Given the description of an element on the screen output the (x, y) to click on. 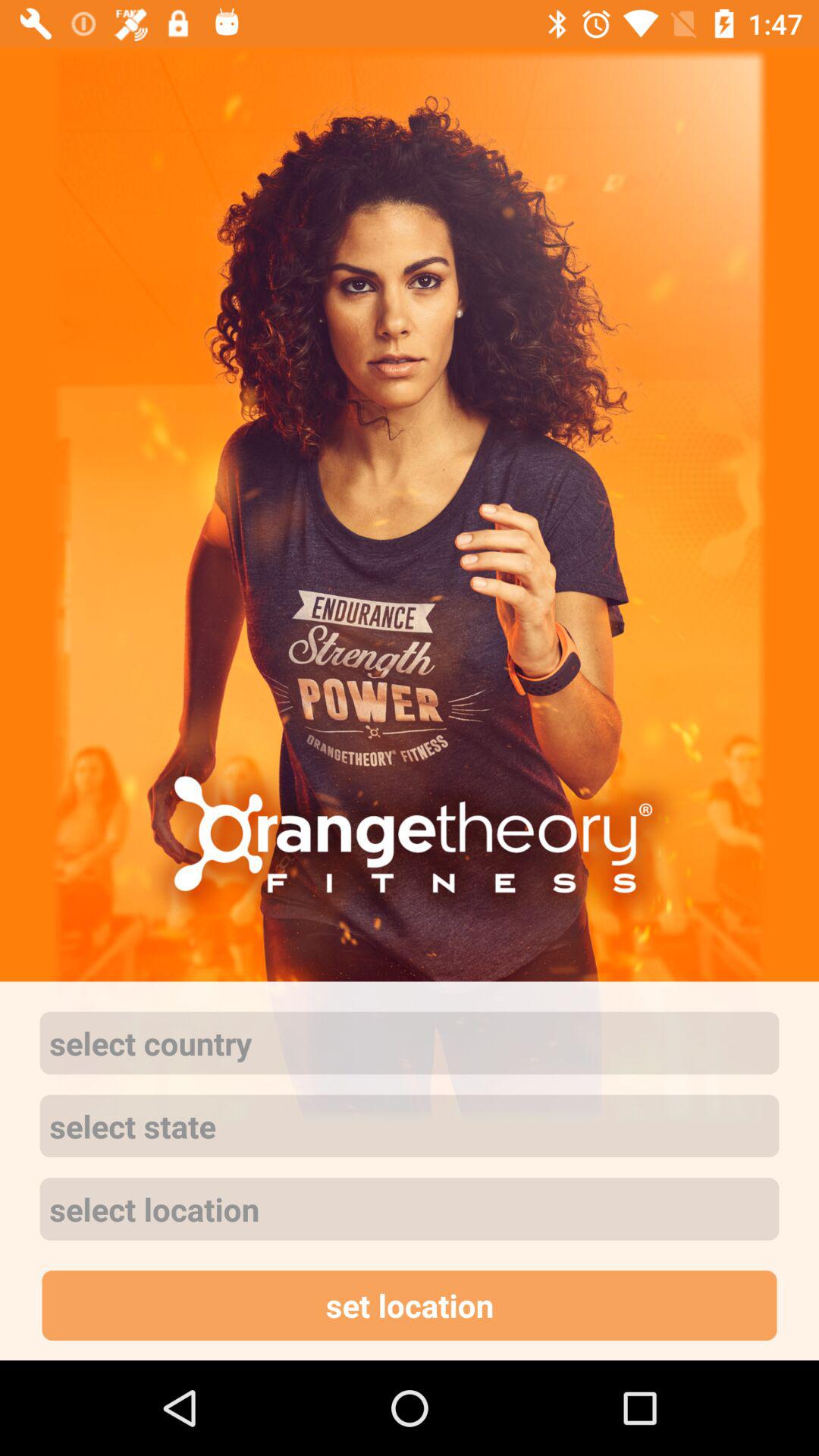
turn on the set location (409, 1305)
